Given the description of an element on the screen output the (x, y) to click on. 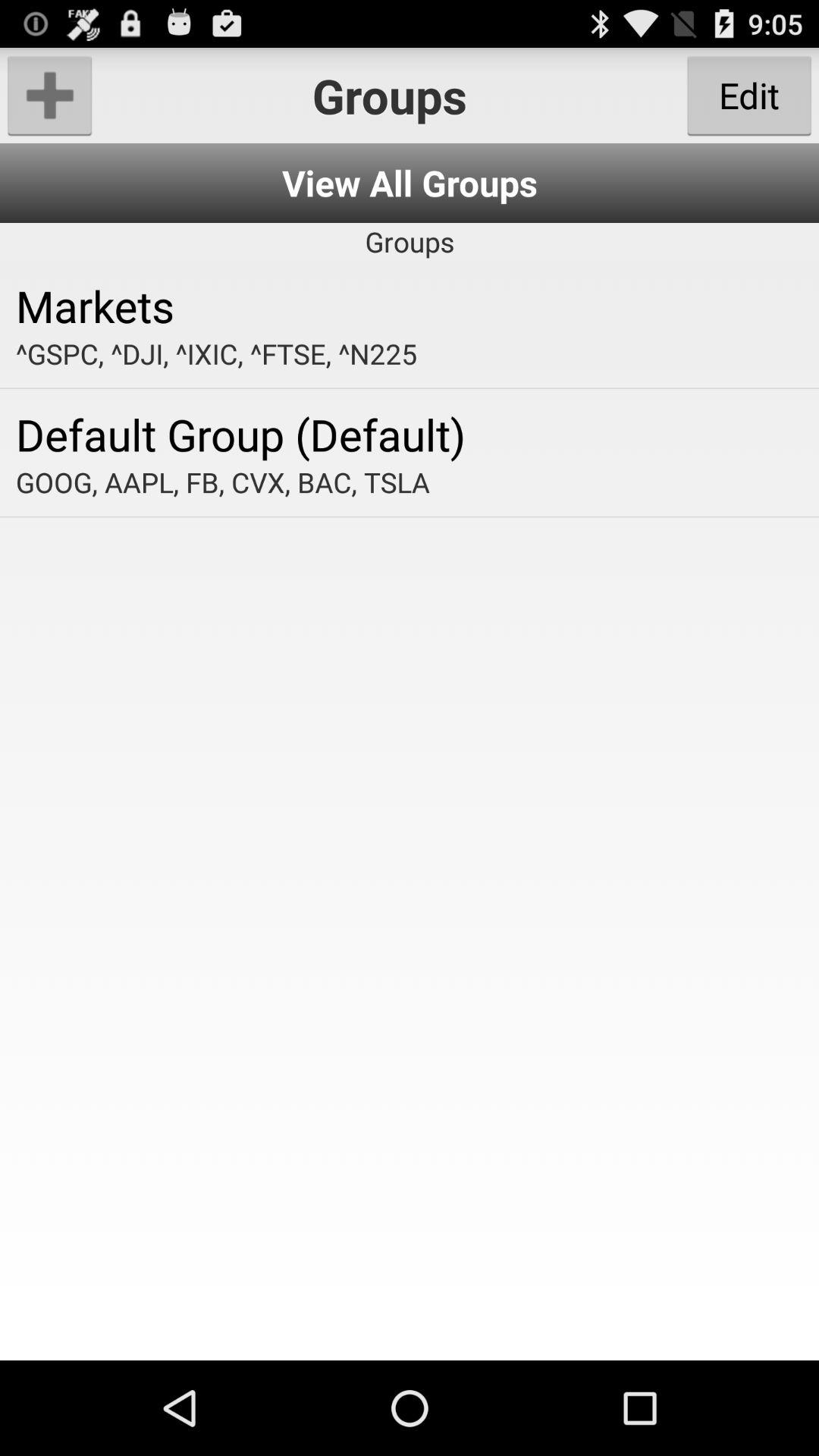
swipe until markets app (409, 305)
